Given the description of an element on the screen output the (x, y) to click on. 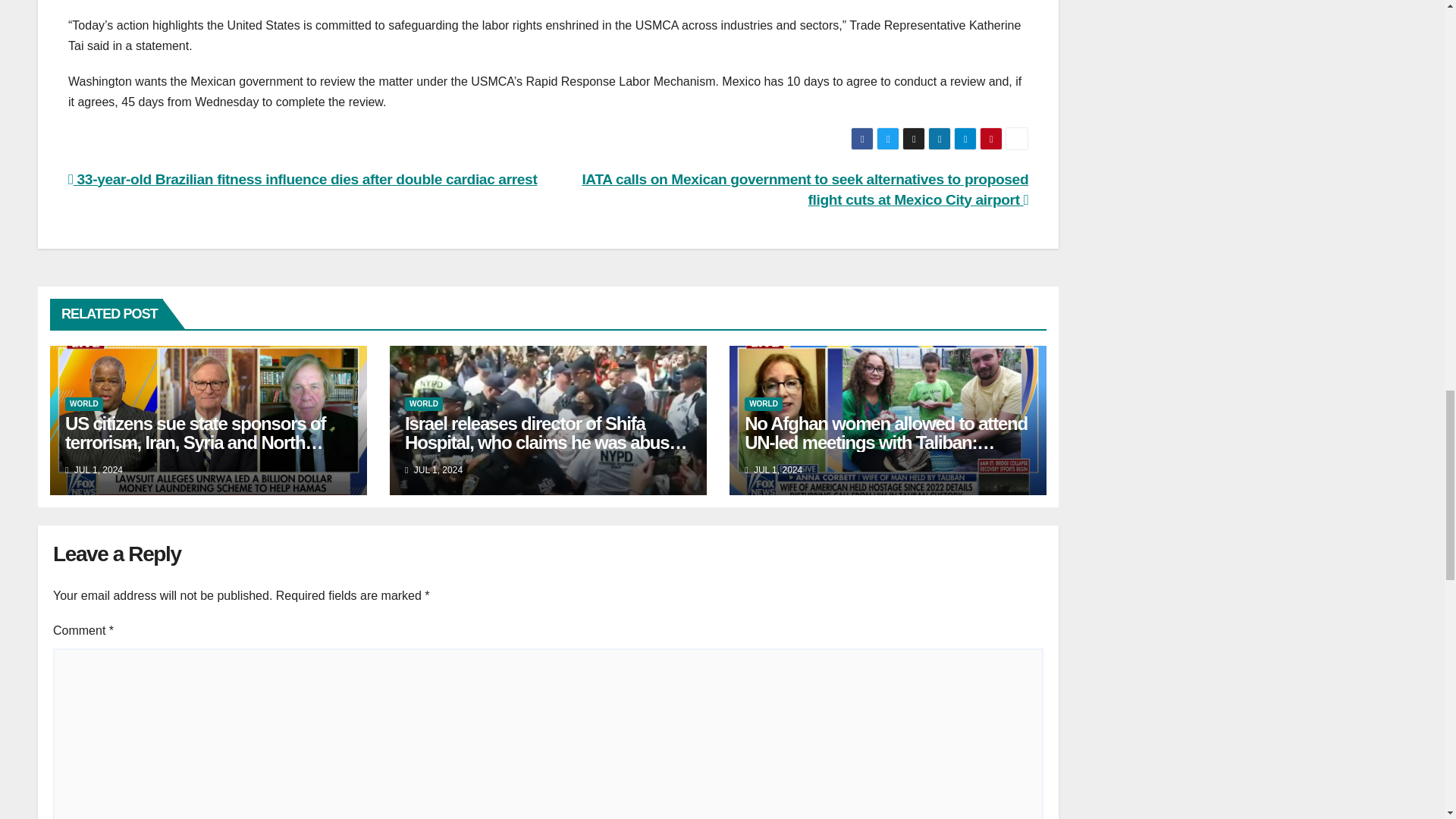
WORLD (763, 404)
WORLD (84, 404)
WORLD (423, 404)
